Given the description of an element on the screen output the (x, y) to click on. 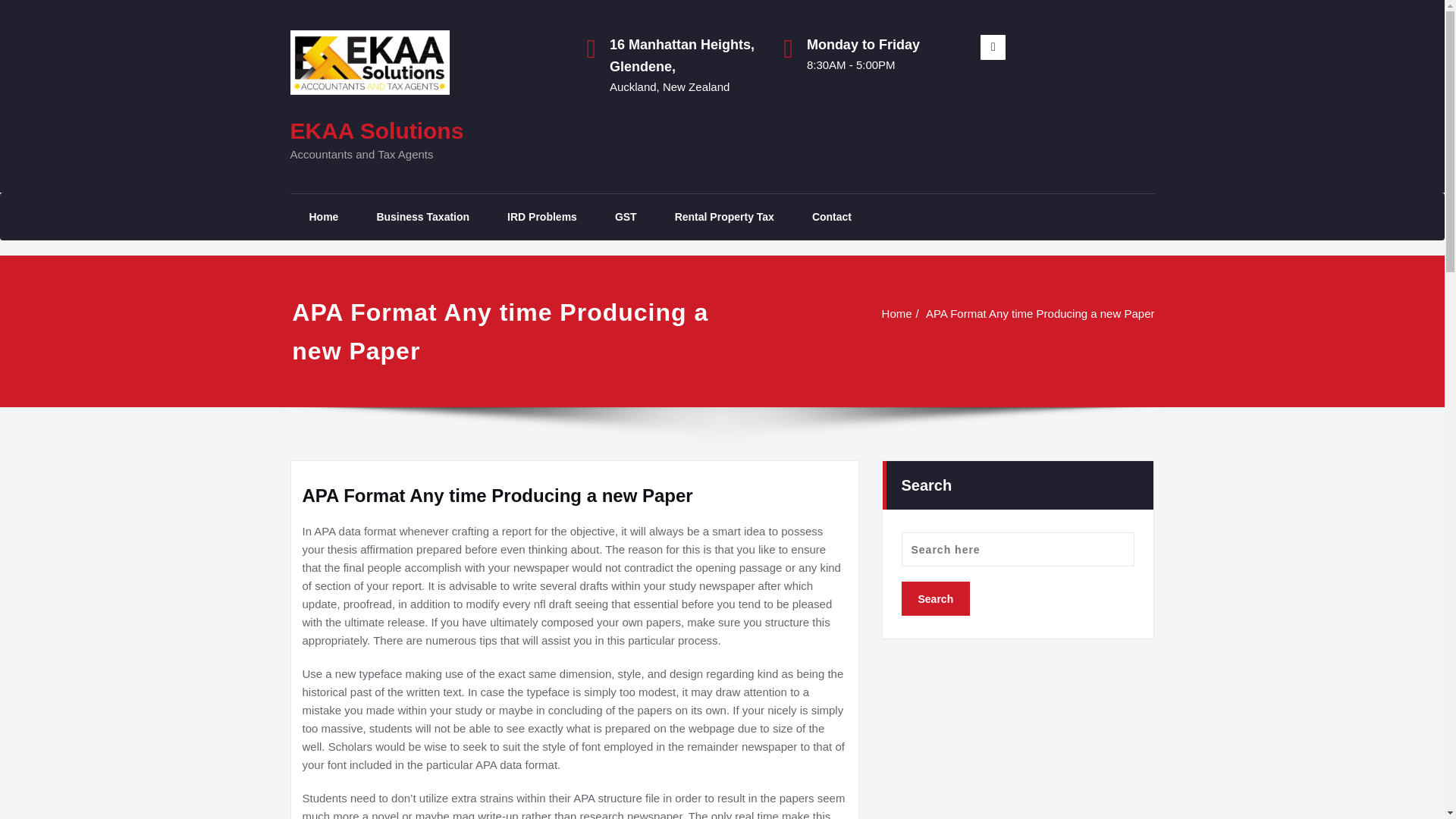
Search (935, 598)
Rental Property Tax (724, 216)
Home (897, 313)
IRD Problems (541, 216)
Contact (831, 216)
Home (322, 216)
EKAA Solutions (376, 130)
Monday to Friday (882, 45)
Business Taxation (421, 216)
